Given the description of an element on the screen output the (x, y) to click on. 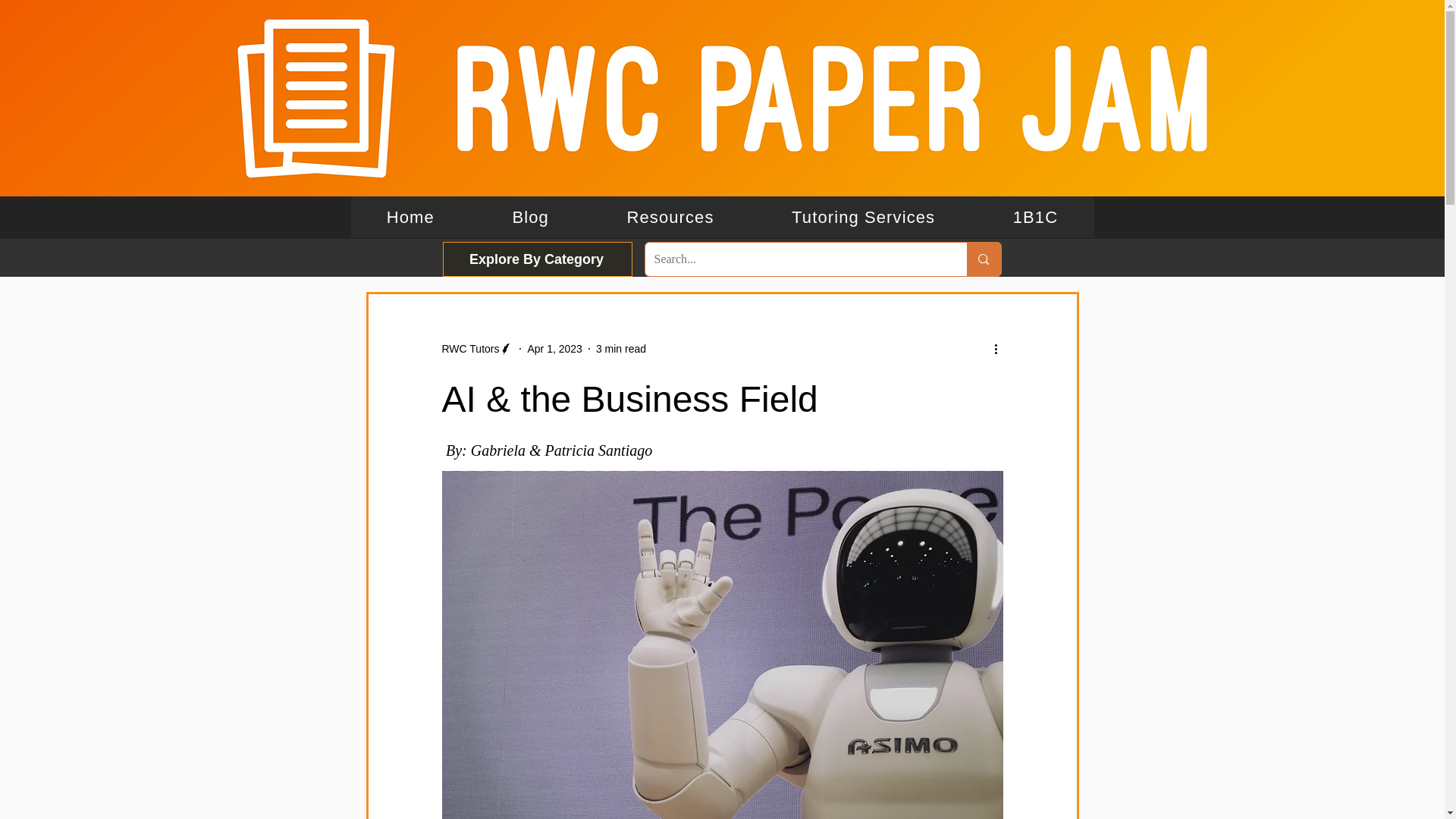
RWC Tutors (470, 349)
Resources (670, 217)
RWC Tutors (477, 349)
Tutoring Services (863, 217)
Explore By Category (536, 258)
Blog (530, 217)
Apr 1, 2023 (553, 348)
3 min read (620, 348)
Home (410, 217)
